Given the description of an element on the screen output the (x, y) to click on. 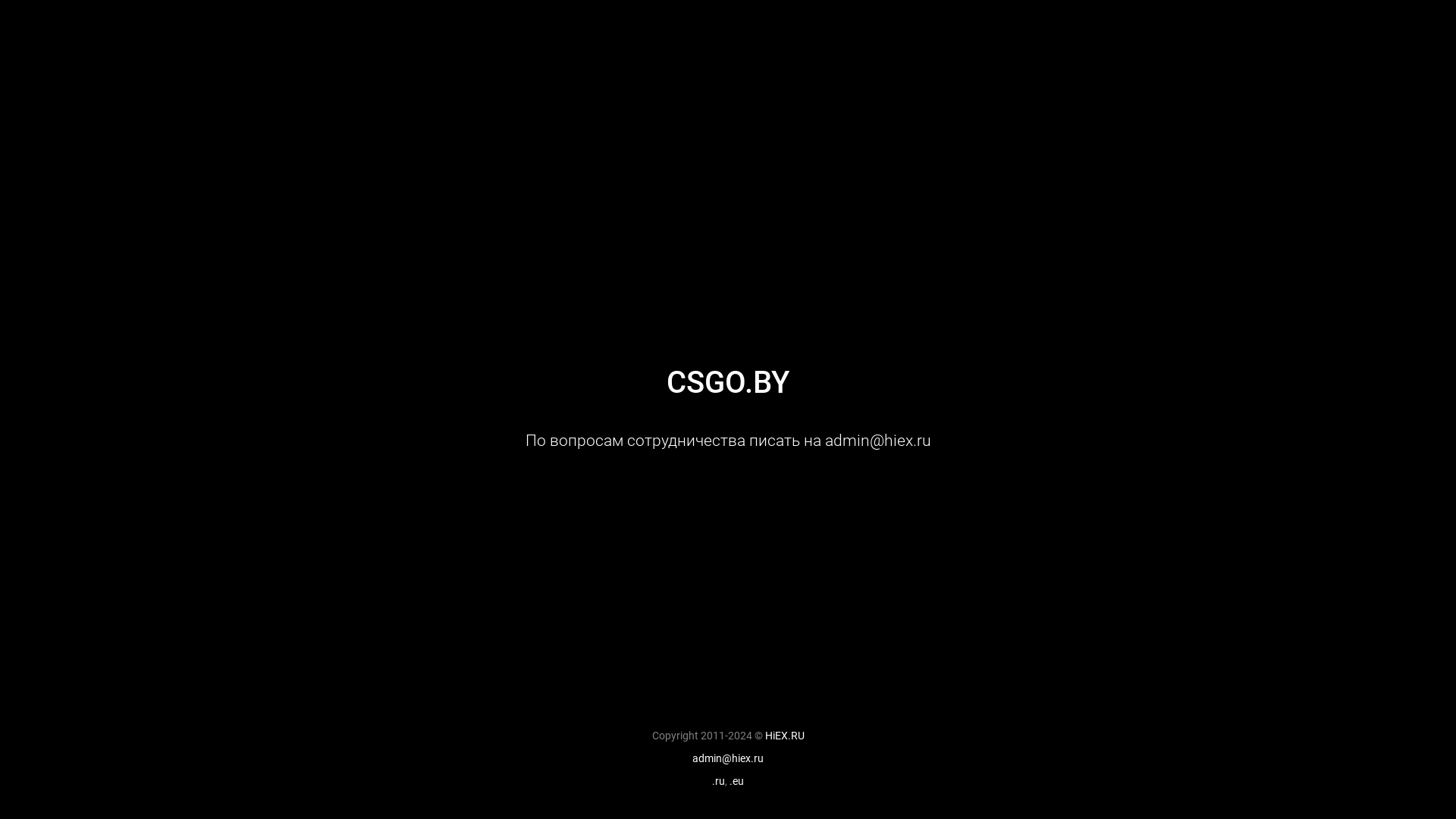
admin@hiex.ru Element type: text (727, 758)
HiEX.RU Element type: text (783, 735)
.eu Element type: text (736, 781)
.ru Element type: text (718, 781)
